Given the description of an element on the screen output the (x, y) to click on. 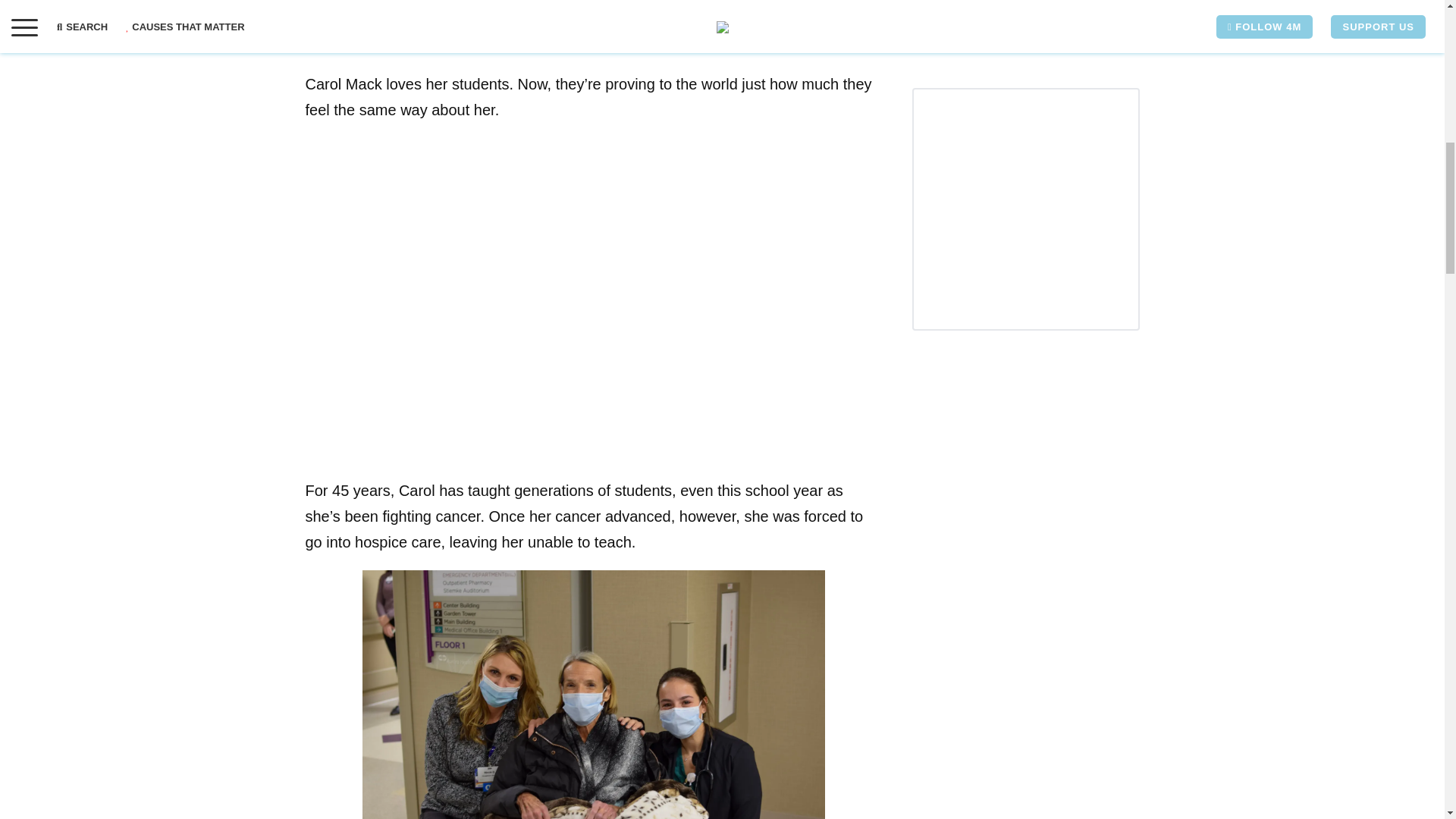
Click to share on Facebook (316, 14)
Click to share on Twitter (346, 14)
Click to share on Pinterest (377, 14)
